Given the description of an element on the screen output the (x, y) to click on. 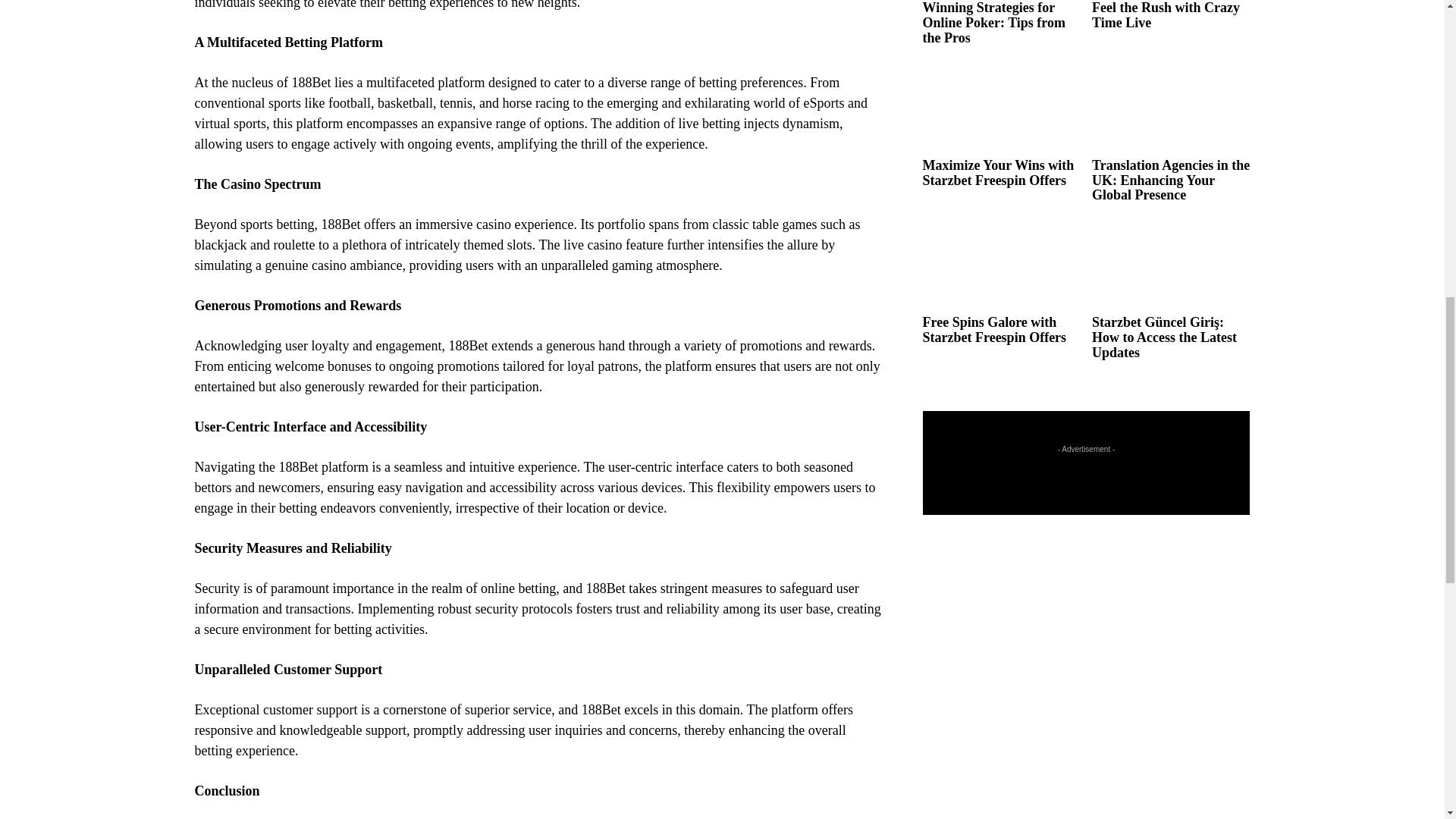
Winning Strategies for Online Poker: Tips from the Pros (993, 22)
Maximize Your Wins with Starzbet Freespin Offers (1000, 108)
Feel the Rush with Crazy Time Live (1166, 15)
